Given the description of an element on the screen output the (x, y) to click on. 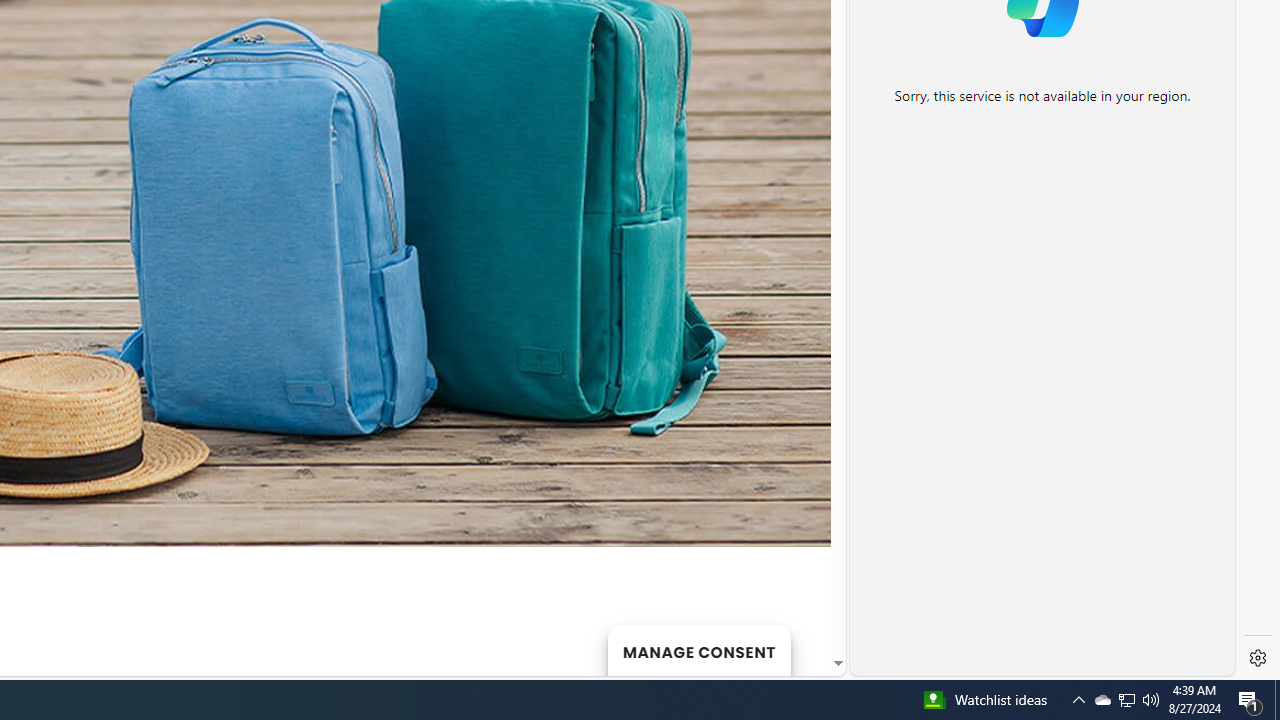
MANAGE CONSENT (698, 650)
